Given the description of an element on the screen output the (x, y) to click on. 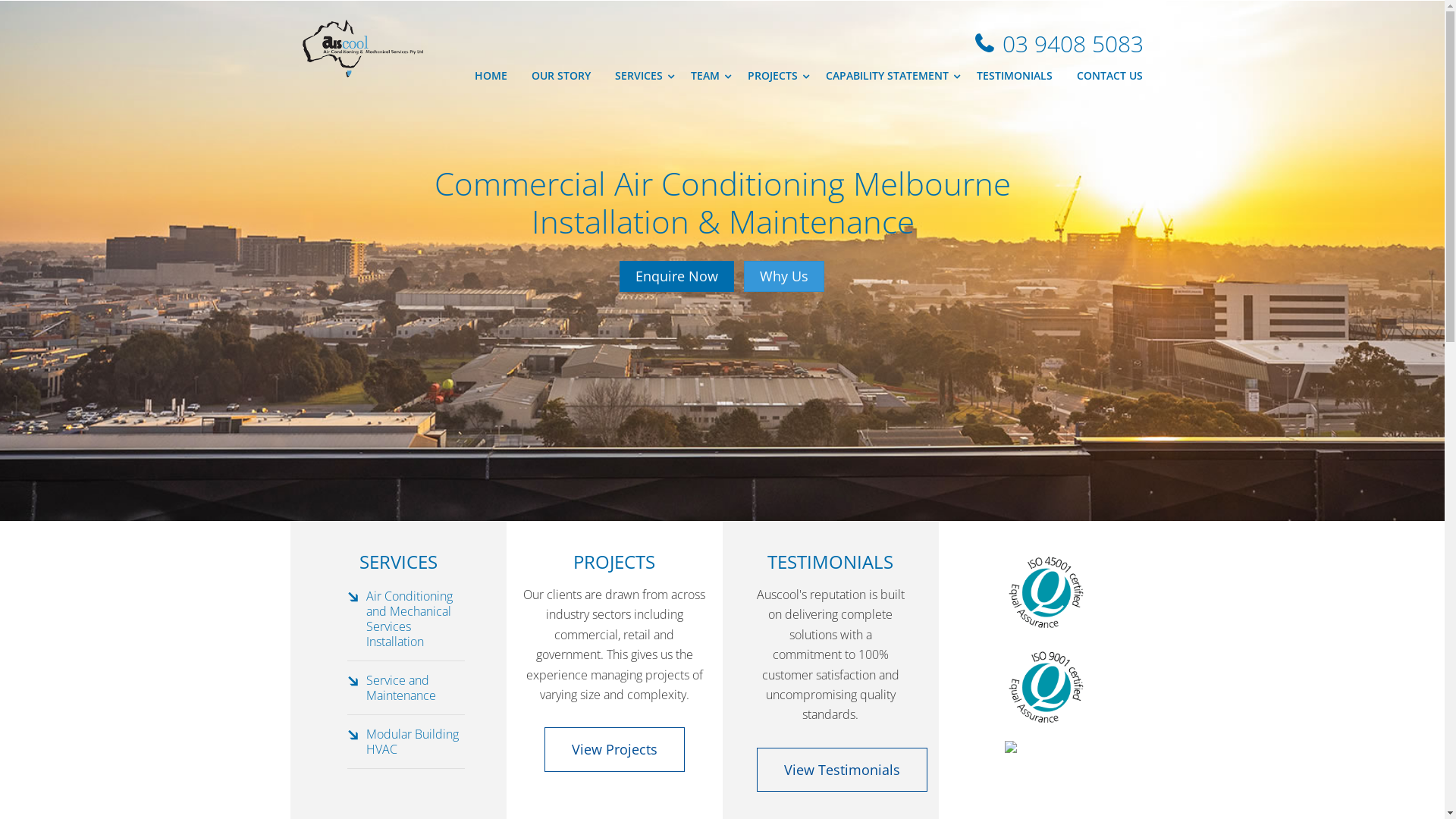
Air Conditioning and Mechanical Services Installation Element type: text (408, 618)
Enquire Now Element type: text (676, 276)
View Projects Element type: text (614, 749)
Modular Building HVAC Element type: text (411, 741)
PROJECTS Element type: text (774, 76)
HOME Element type: text (490, 76)
SERVICES Element type: text (639, 76)
TESTIMONIALS Element type: text (1014, 76)
03 9408 5083 Element type: text (1059, 43)
TEAM Element type: text (705, 76)
View Testimonials Element type: text (841, 769)
OUR STORY Element type: text (560, 76)
Service and Maintenance Element type: text (400, 687)
CONTACT US Element type: text (1109, 76)
CAPABILITY STATEMENT Element type: text (887, 76)
Why Us Element type: text (783, 276)
